Given the description of an element on the screen output the (x, y) to click on. 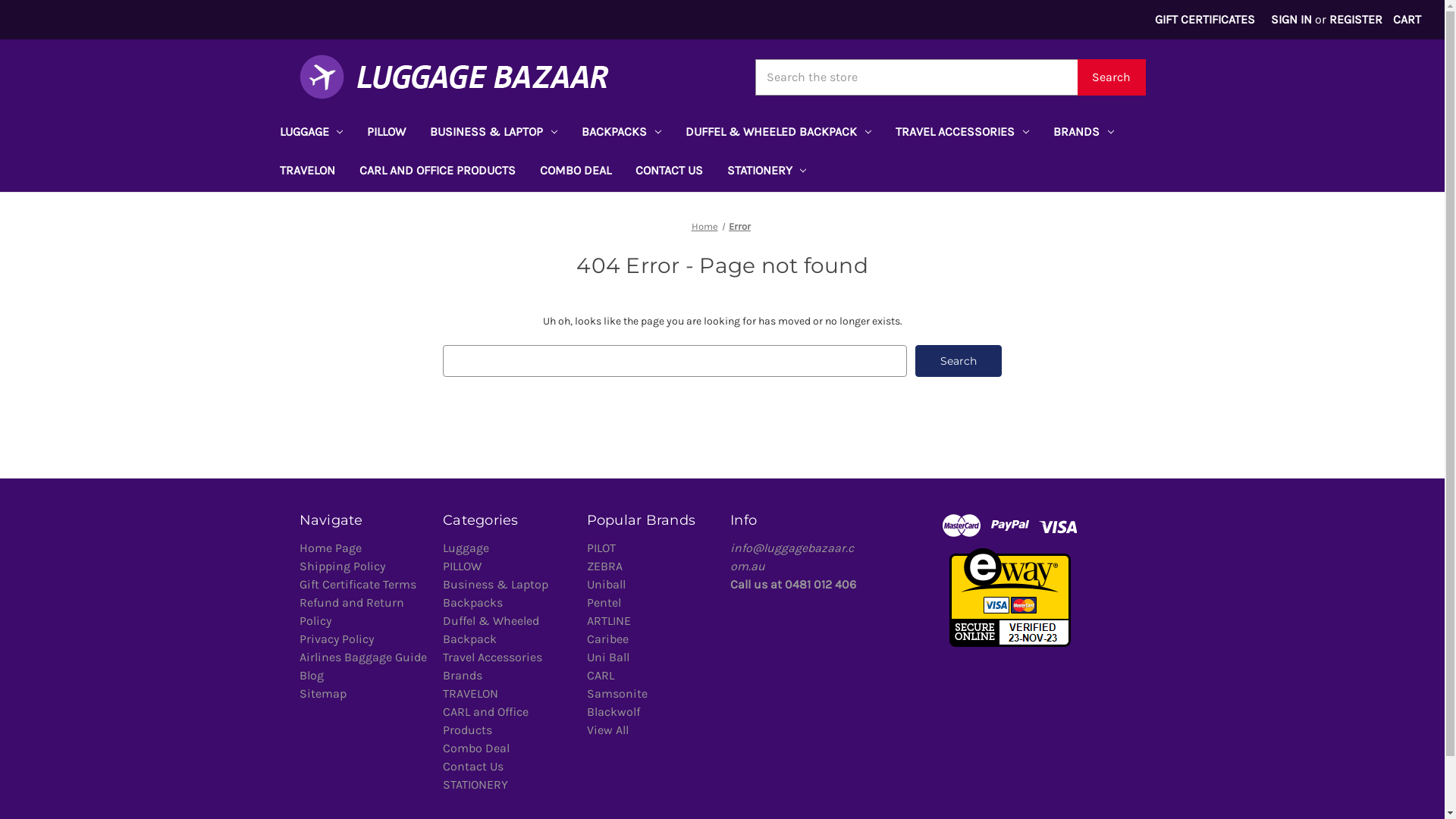
Refund and Return Policy Element type: text (350, 611)
Blackwolf Element type: text (613, 711)
CONTACT US Element type: text (669, 172)
CARL and Office Products Element type: text (485, 720)
GIFT CERTIFICATES Element type: text (1205, 19)
Combo Deal Element type: text (475, 747)
DUFFEL & WHEELED BACKPACK Element type: text (778, 133)
PILOT Element type: text (600, 547)
Error Element type: text (739, 226)
ZEBRA Element type: text (604, 565)
Blog Element type: text (310, 675)
STATIONERY Element type: text (766, 172)
Backpacks Element type: text (472, 602)
Luggage Element type: text (465, 547)
BACKPACKS Element type: text (621, 133)
CARL AND OFFICE PRODUCTS Element type: text (437, 172)
COMBO DEAL Element type: text (575, 172)
Pentel Element type: text (603, 602)
Home Element type: text (704, 226)
Home Page Element type: text (329, 547)
CART Element type: text (1406, 19)
Sitemap Element type: text (321, 693)
Contact Us Element type: text (472, 766)
Uniball Element type: text (605, 584)
Business & Laptop Element type: text (495, 584)
TRAVELON Element type: text (470, 693)
Samsonite Element type: text (616, 693)
Search Element type: text (958, 360)
Uni Ball Element type: text (607, 656)
Duffel & Wheeled Backpack Element type: text (490, 629)
ARTLINE Element type: text (608, 620)
PILLOW Element type: text (461, 565)
Brands Element type: text (462, 675)
Luggage Bazaar  Element type: hover (453, 76)
CARL Element type: text (600, 675)
Gift Certificate Terms Element type: text (356, 584)
SIGN IN Element type: text (1291, 19)
BUSINESS & LAPTOP Element type: text (493, 133)
Airlines Baggage Guide Element type: text (362, 656)
PILLOW Element type: text (385, 133)
Caribee Element type: text (607, 638)
LUGGAGE Element type: text (310, 133)
Search Element type: text (1110, 77)
View All Element type: text (607, 729)
TRAVELON Element type: text (306, 172)
Shipping Policy Element type: text (341, 565)
eWAY Payment Gateway Element type: hover (1009, 596)
REGISTER Element type: text (1355, 19)
BRANDS Element type: text (1083, 133)
Travel Accessories Element type: text (492, 656)
Privacy Policy Element type: text (335, 638)
TRAVEL ACCESSORIES Element type: text (962, 133)
STATIONERY Element type: text (475, 784)
